Given the description of an element on the screen output the (x, y) to click on. 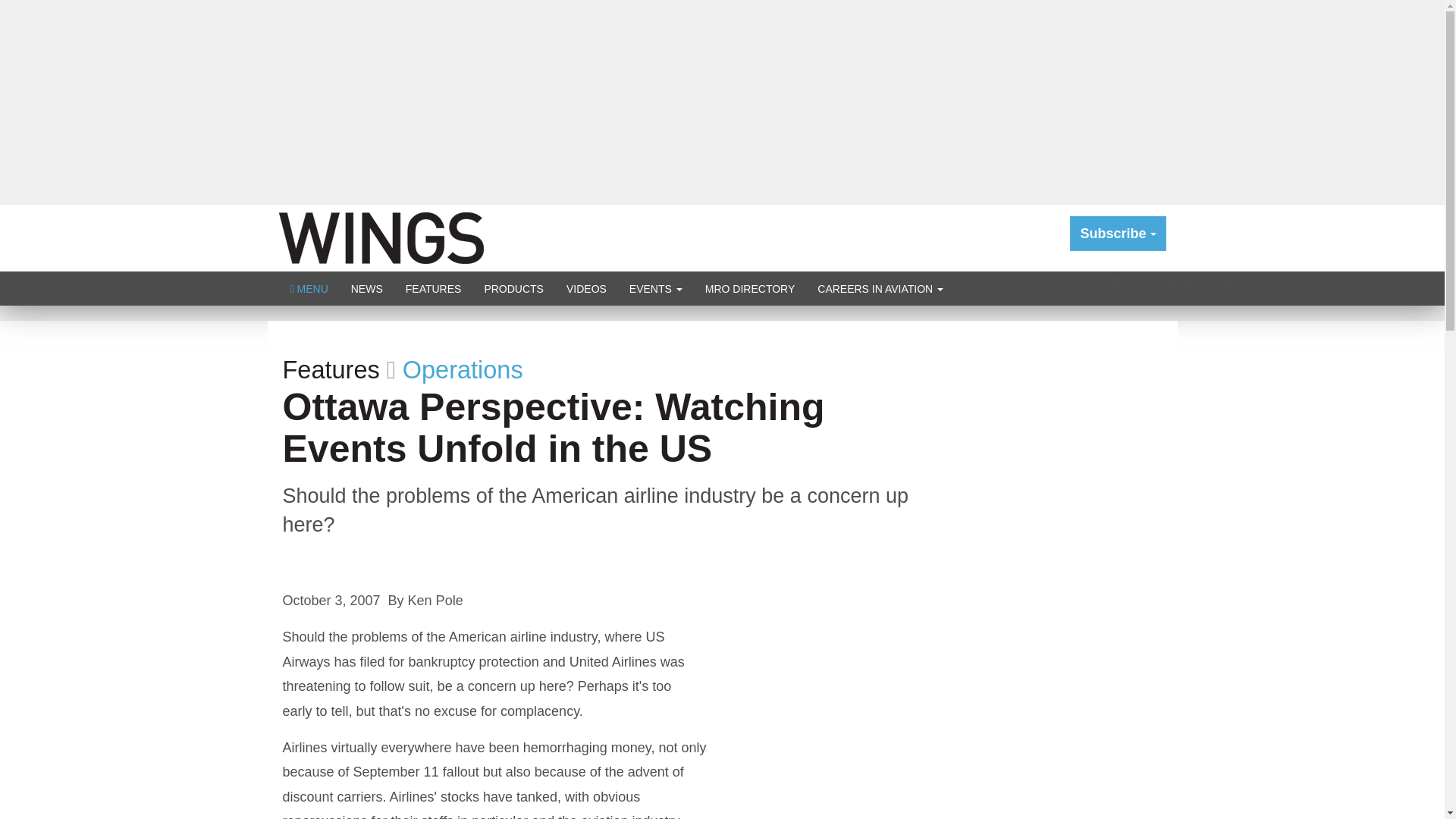
VIDEOS (585, 288)
PRODUCTS (512, 288)
Subscribe (1118, 233)
CAREERS IN AVIATION (880, 288)
FEATURES (433, 288)
MRO DIRECTORY (750, 288)
MENU (309, 288)
NEWS (366, 288)
Click to show site navigation (309, 288)
